Given the description of an element on the screen output the (x, y) to click on. 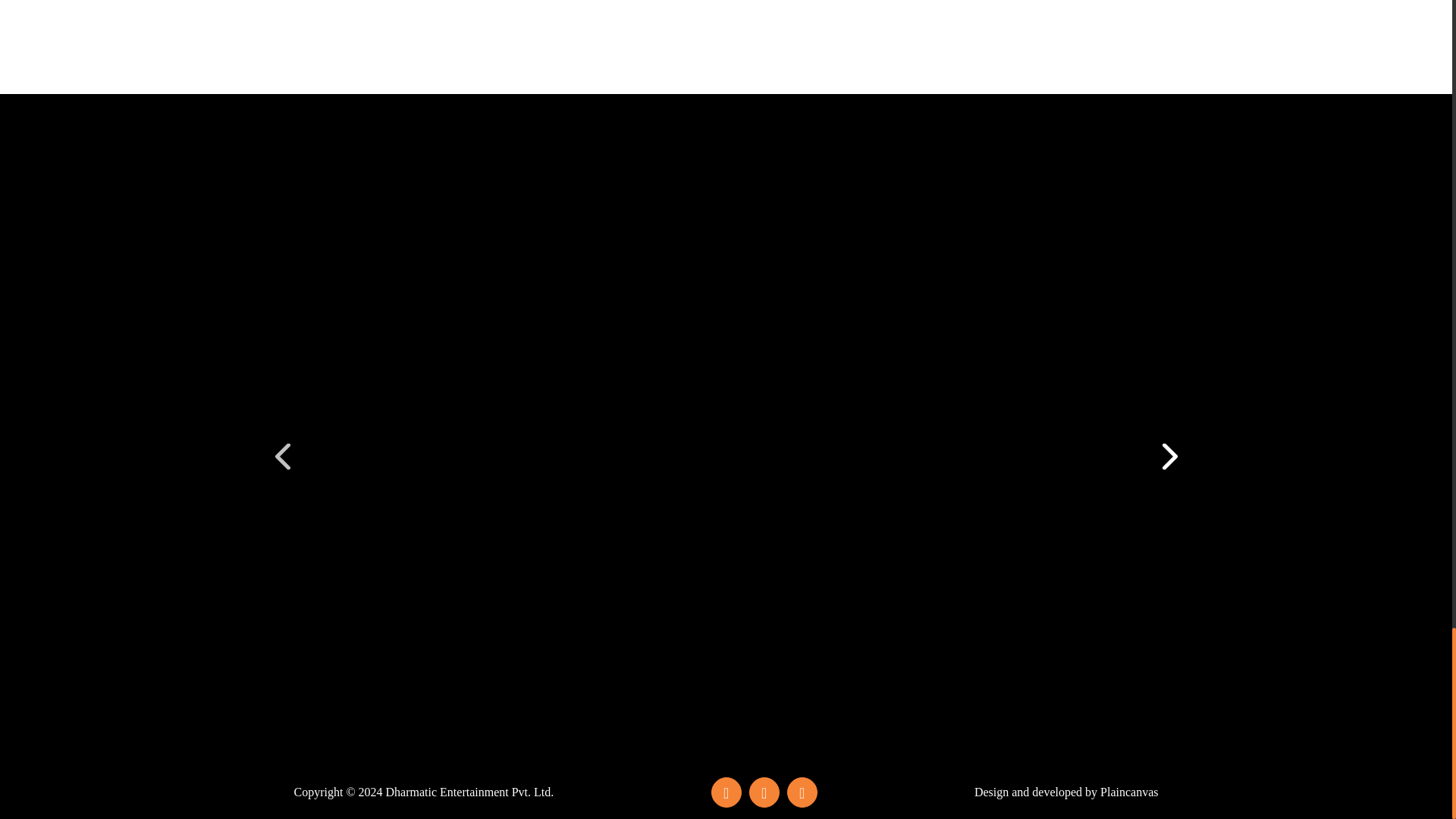
Plaincanvas (1128, 791)
